Given the description of an element on the screen output the (x, y) to click on. 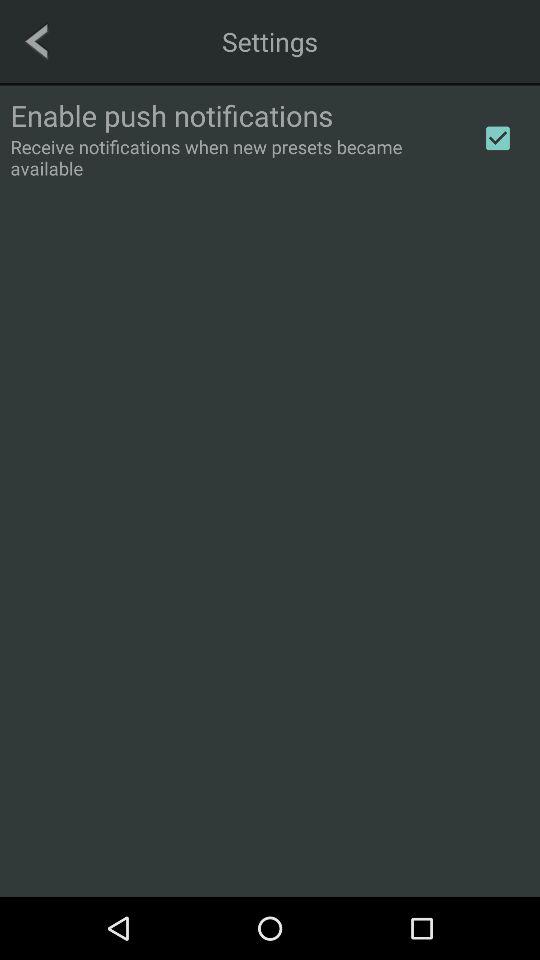
press the icon next to the settings item (36, 41)
